Given the description of an element on the screen output the (x, y) to click on. 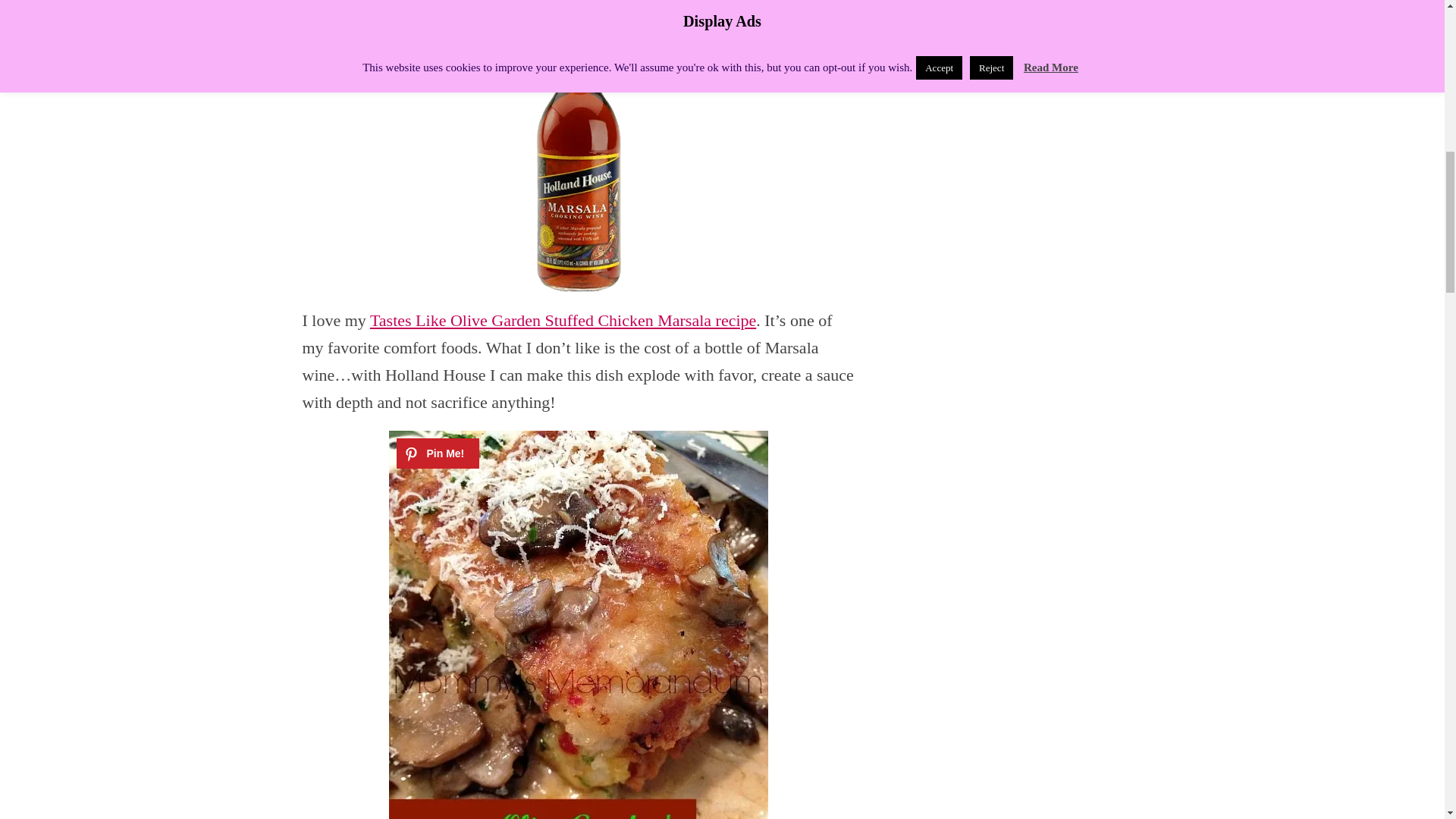
Tastes Like Olive Garden Stuffed Chicken Marsala recipe (562, 320)
Pin Me! (437, 453)
Olive Garden Stuffed Chicken Marsala Recipe (562, 320)
